Given the description of an element on the screen output the (x, y) to click on. 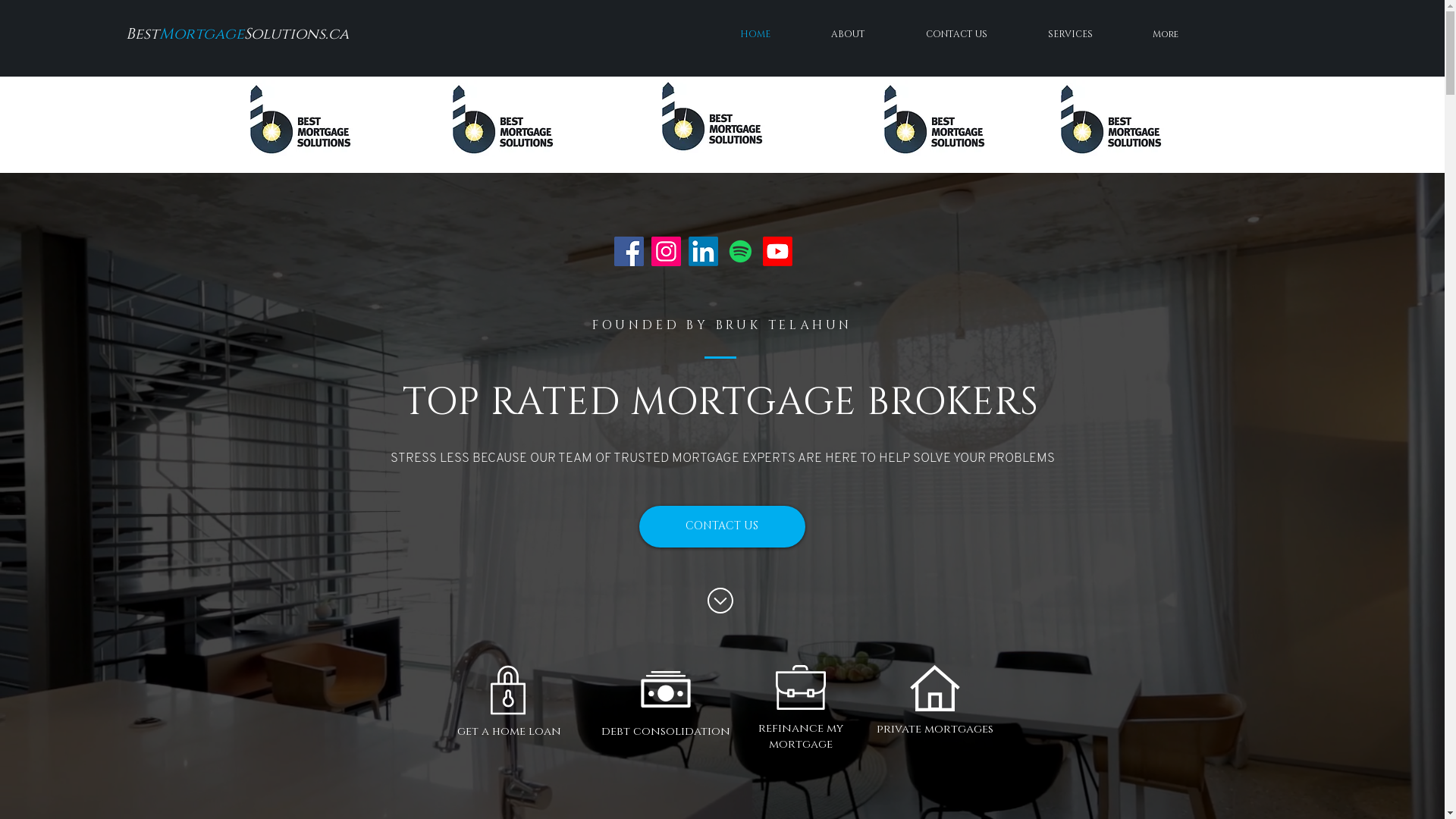
ABOUT Element type: text (847, 33)
CONTACT US Element type: text (721, 526)
SERVICES Element type: text (1069, 33)
CONTACT US Element type: text (956, 33)
HOME Element type: text (754, 33)
